Given the description of an element on the screen output the (x, y) to click on. 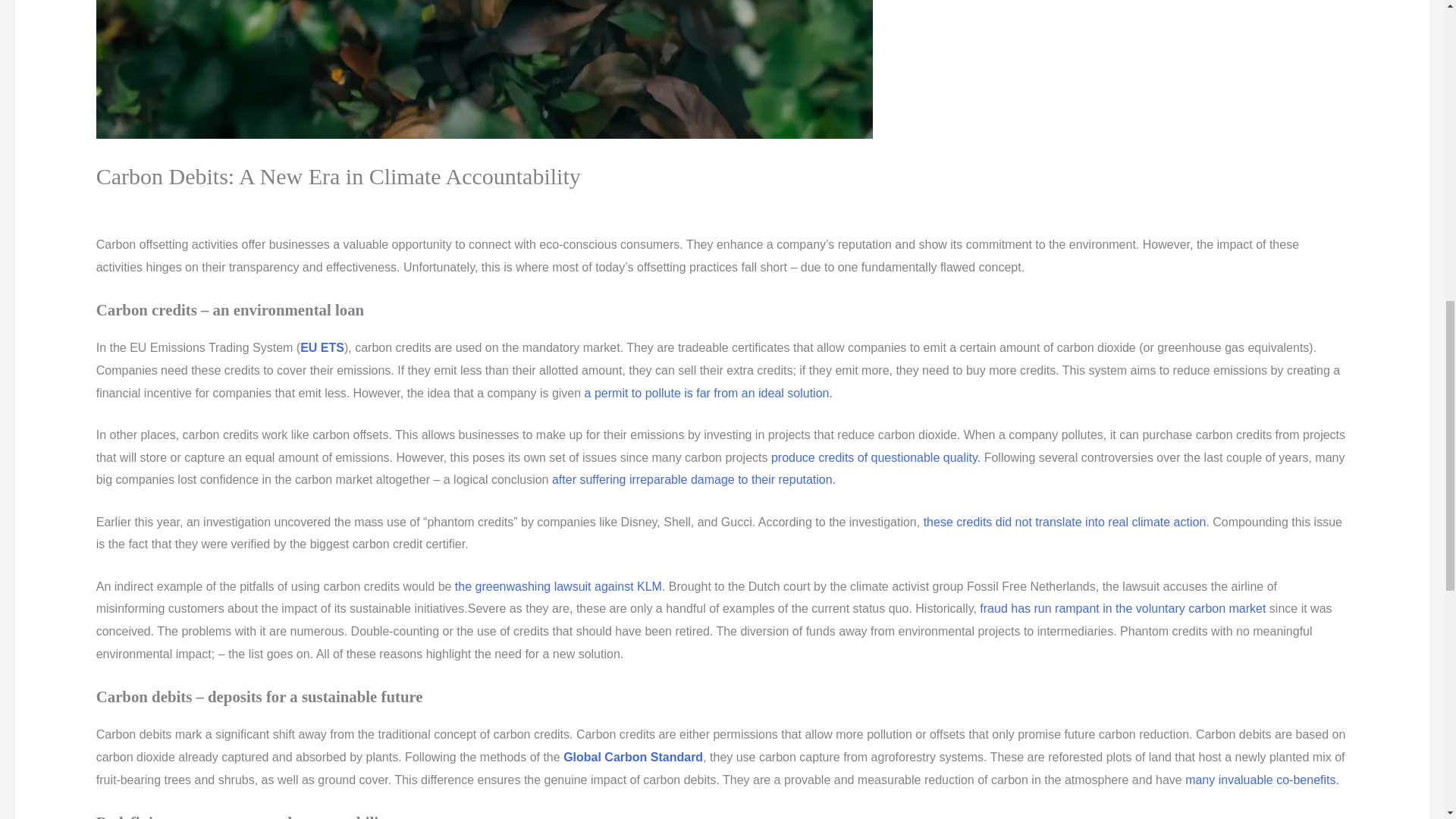
produce credits of questionable quality. (873, 457)
a permit to pollute is far from an ideal solution.  (707, 392)
Global Carbon Standard (631, 757)
fraud has run rampant in the voluntary carbon market (1121, 608)
many invaluable co-benefits. (1262, 779)
these credits did not translate into real climate action (1065, 521)
after suffering irreparable damage to their reputation. (691, 479)
EU ETS (321, 347)
the greenwashing lawsuit against KLM (556, 585)
